Given the description of an element on the screen output the (x, y) to click on. 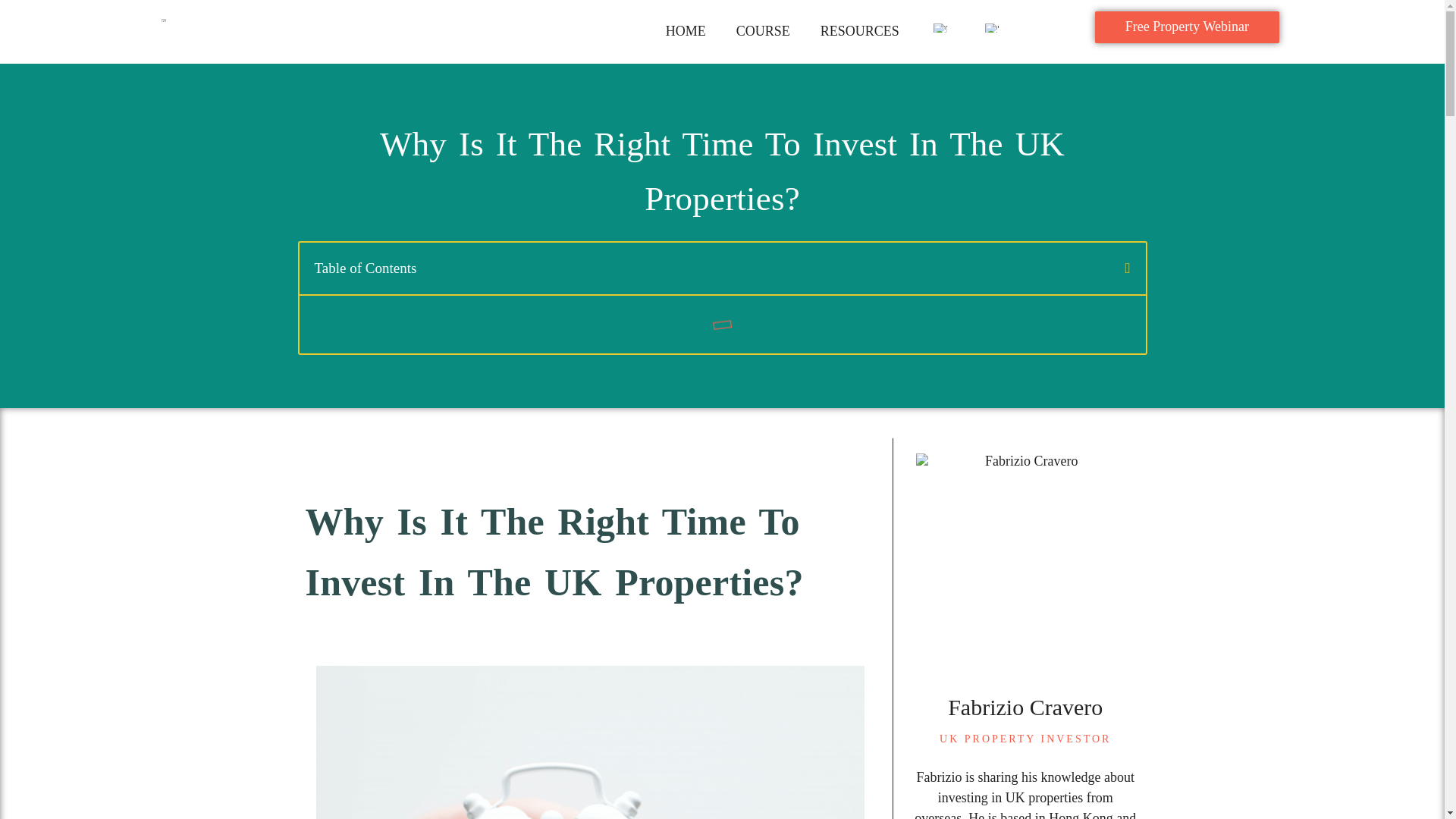
COURSE (762, 31)
HOME (685, 31)
Chinese (991, 27)
English (940, 27)
RESOURCES (859, 31)
Free Property Webinar (1186, 27)
